Given the description of an element on the screen output the (x, y) to click on. 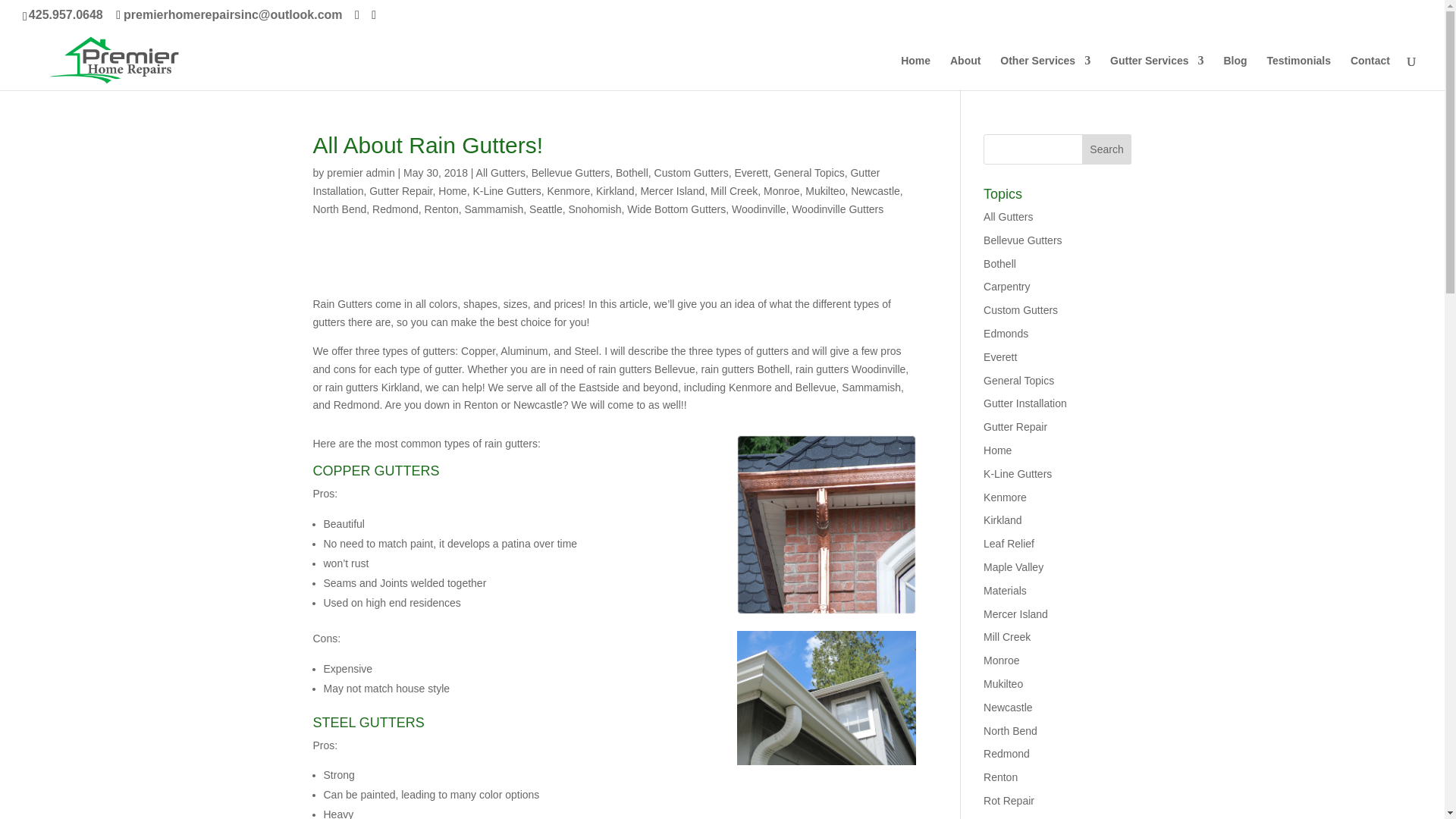
copper rain gutter (825, 524)
Testimonials (1298, 72)
Posts by premier admin (360, 173)
Search (1106, 149)
aluminum rain gutter (825, 697)
Other Services (1045, 72)
Gutter Services (1156, 72)
Contact (1370, 72)
